Given the description of an element on the screen output the (x, y) to click on. 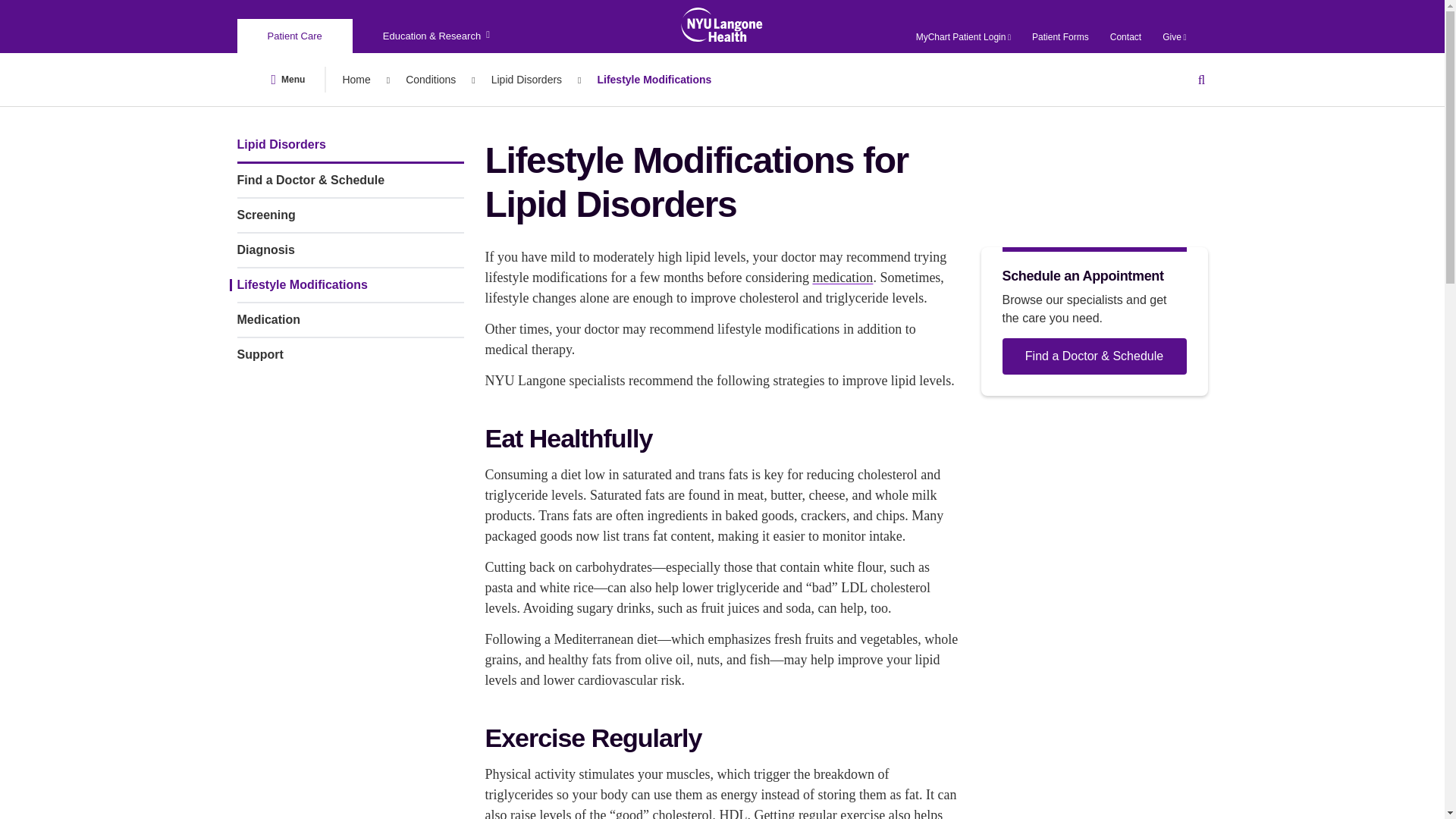
Lipid Disorders (527, 79)
Lifestyle Modifications (653, 79)
Home (355, 79)
Conditions (430, 79)
Lipid Disorders (527, 79)
Menu (288, 79)
Give (1173, 36)
Contact (1125, 36)
Patient Forms (1060, 36)
Home (355, 79)
